Given the description of an element on the screen output the (x, y) to click on. 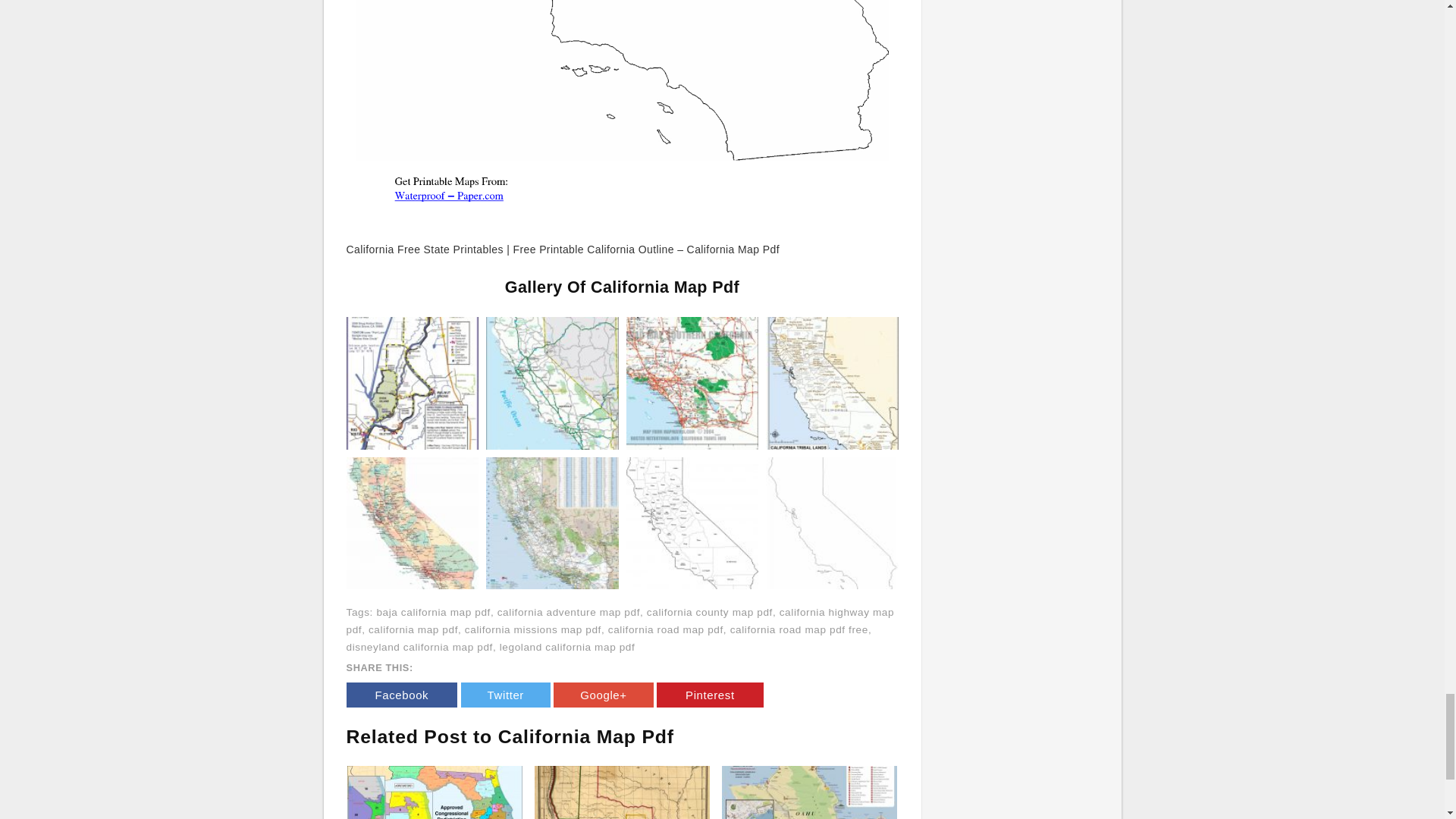
california road map pdf (665, 629)
california adventure map pdf (568, 612)
california road map pdf free (798, 629)
Twitter (505, 694)
legoland california map pdf (566, 646)
california map pdf (413, 629)
disneyland california map pdf (419, 646)
california highway map pdf (619, 620)
california missions map pdf (532, 629)
California Map   California Map Pdf (552, 381)
